Given the description of an element on the screen output the (x, y) to click on. 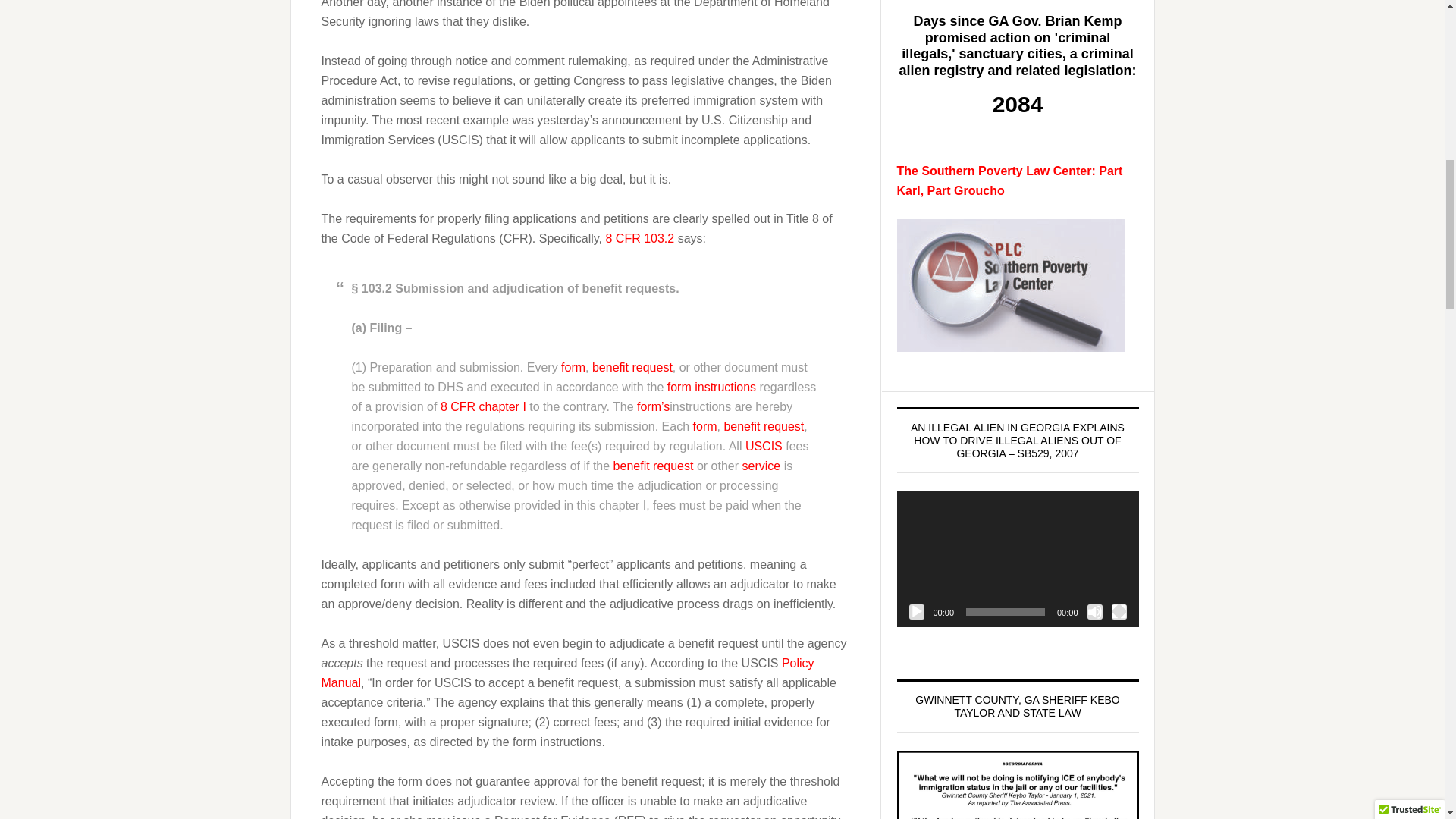
Policy Manual (567, 672)
service (760, 465)
form instructions (710, 386)
benefit request (763, 426)
Mute (1094, 611)
USCIS (764, 445)
form (705, 426)
8 CFR chapter I (483, 406)
benefit request (653, 465)
benefit request (632, 367)
form (572, 367)
Play (915, 611)
8 CFR 103.2 (639, 237)
Fullscreen (1119, 611)
The Southern Poverty Law Center: Part Karl, Part Groucho (1009, 180)
